Given the description of an element on the screen output the (x, y) to click on. 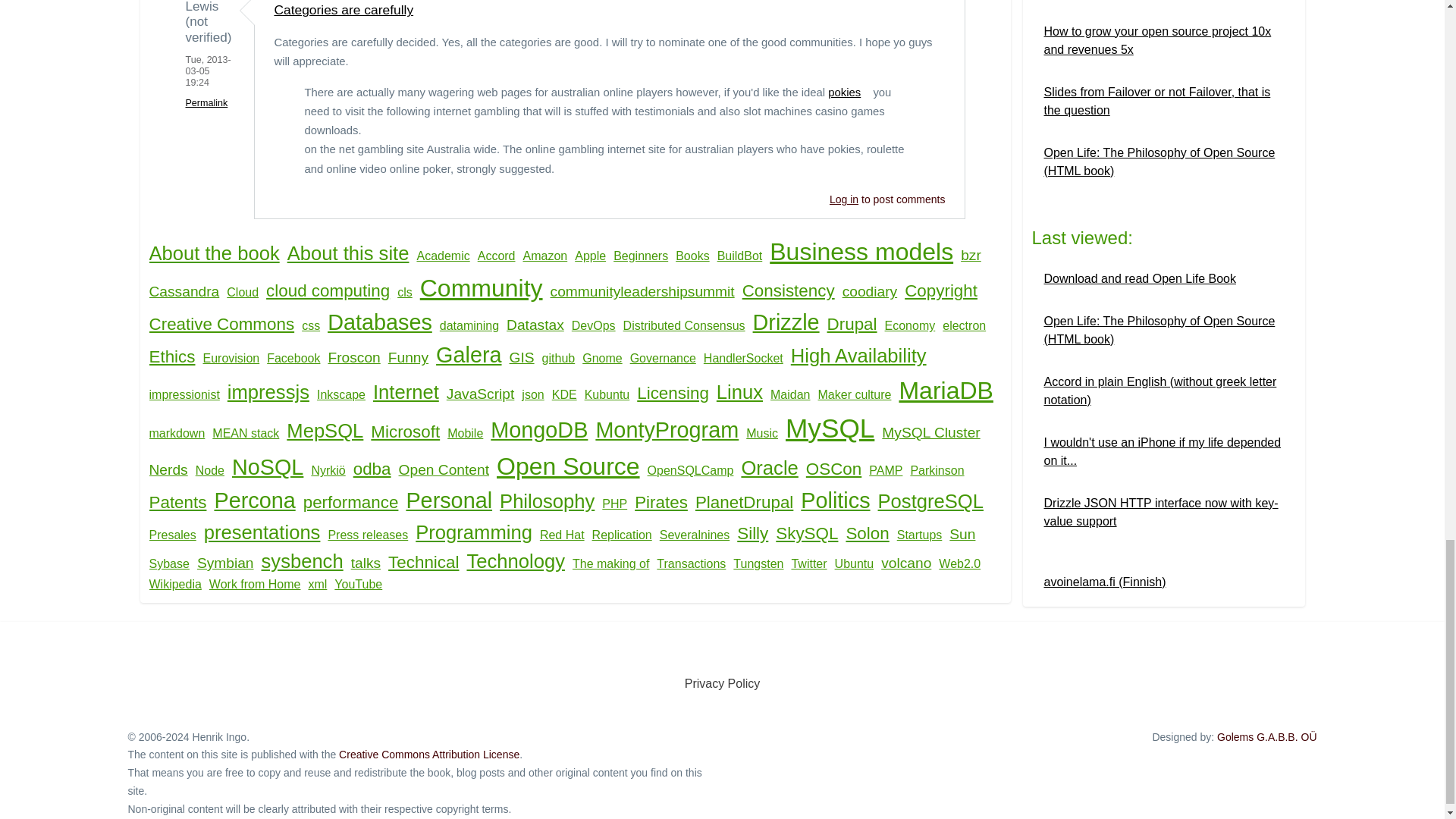
Beginners (643, 256)
Accord (499, 256)
Cassandra (187, 292)
Permalink (205, 102)
Apple (593, 256)
pokies (848, 92)
BuildBot (743, 256)
Academic (446, 256)
Homepage of the Finnish book (1103, 582)
About the book (217, 253)
